Given the description of an element on the screen output the (x, y) to click on. 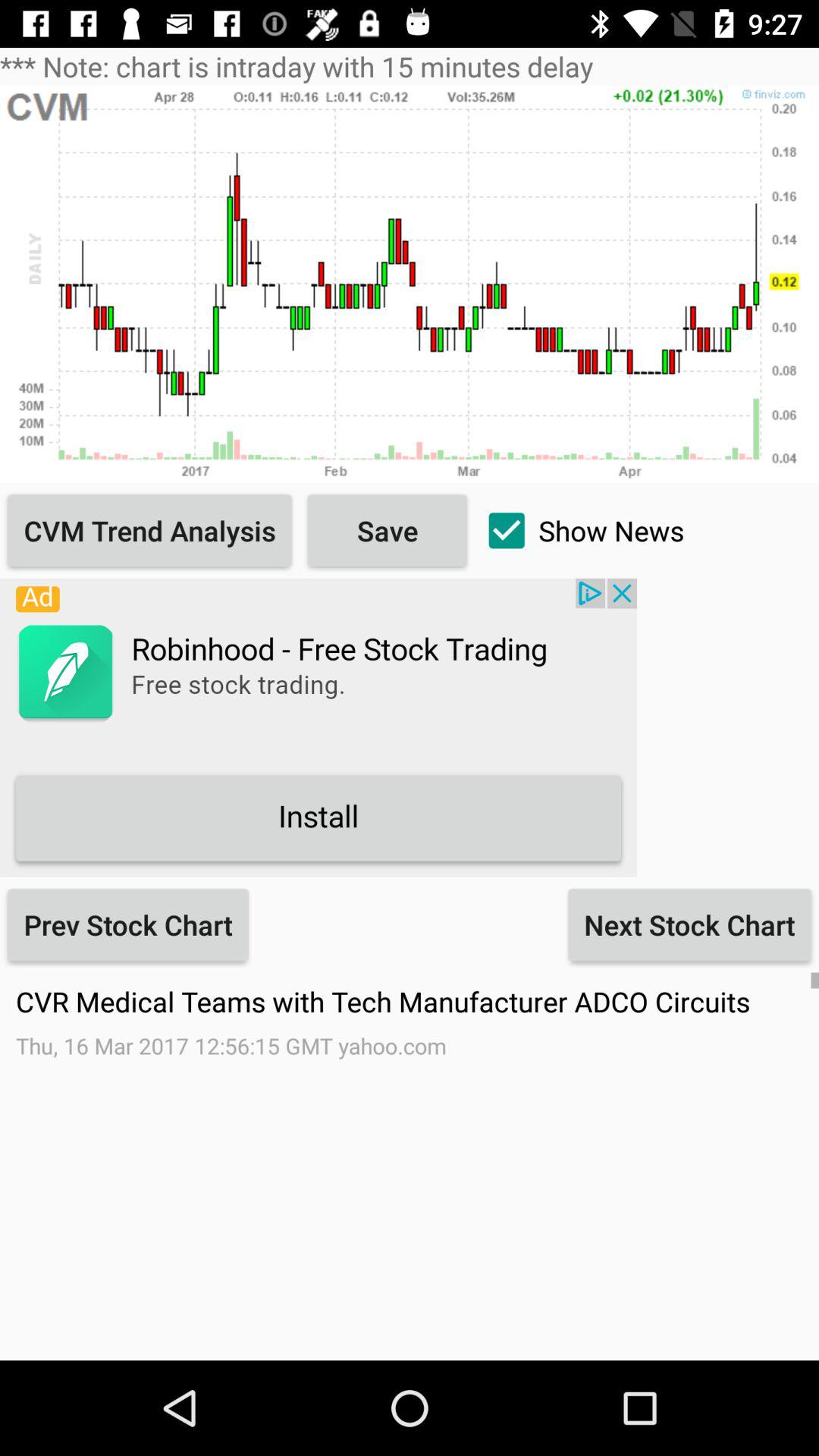
install app (318, 727)
